Given the description of an element on the screen output the (x, y) to click on. 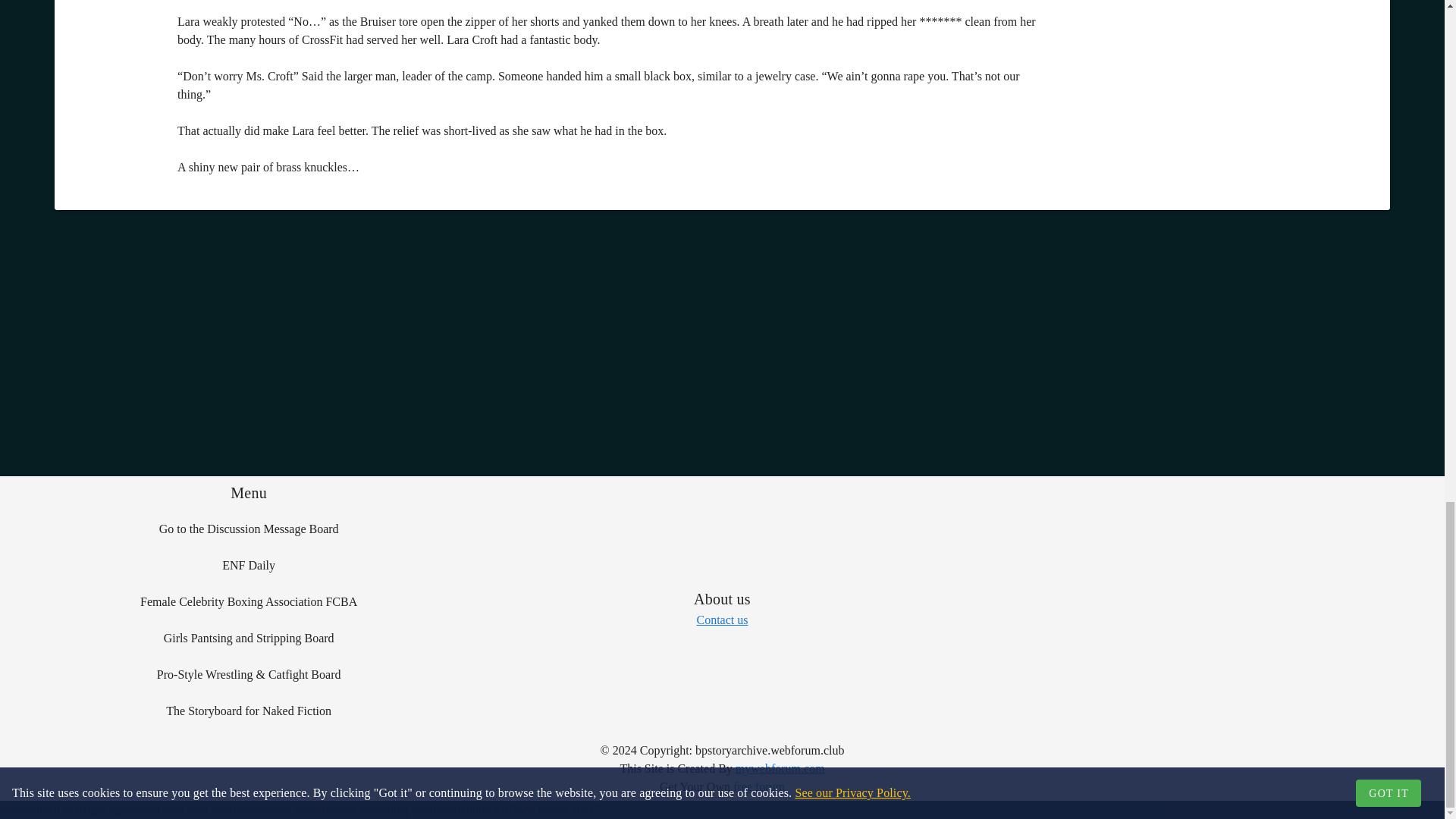
Go to the Discussion Message Board (247, 529)
Female Celebrity Boxing Association FCBA (247, 601)
free forum (758, 786)
Girls Pantsing and Stripping Board (247, 637)
Contact us (721, 619)
The Storyboard for Naked Fiction (247, 710)
mywebforum.com (780, 768)
ENF Daily (247, 565)
